Given the description of an element on the screen output the (x, y) to click on. 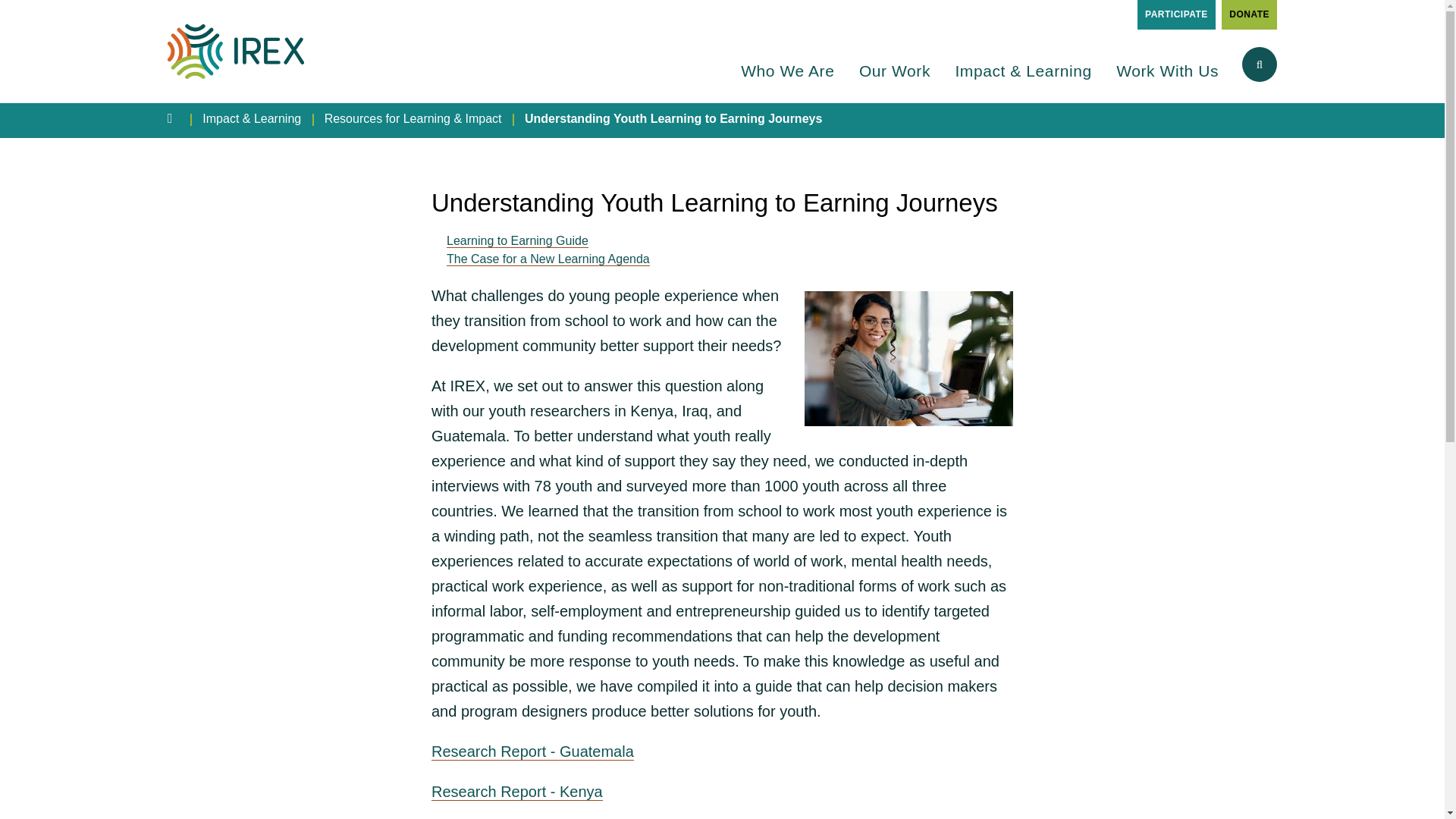
DONATE (1248, 14)
Our Work (894, 80)
The Case for a New Learning Agenda.pdf (547, 258)
Work With Us (1167, 80)
Who We Are (787, 80)
PARTICIPATE (1176, 14)
Open search interface (1258, 63)
Search (1237, 138)
